Given the description of an element on the screen output the (x, y) to click on. 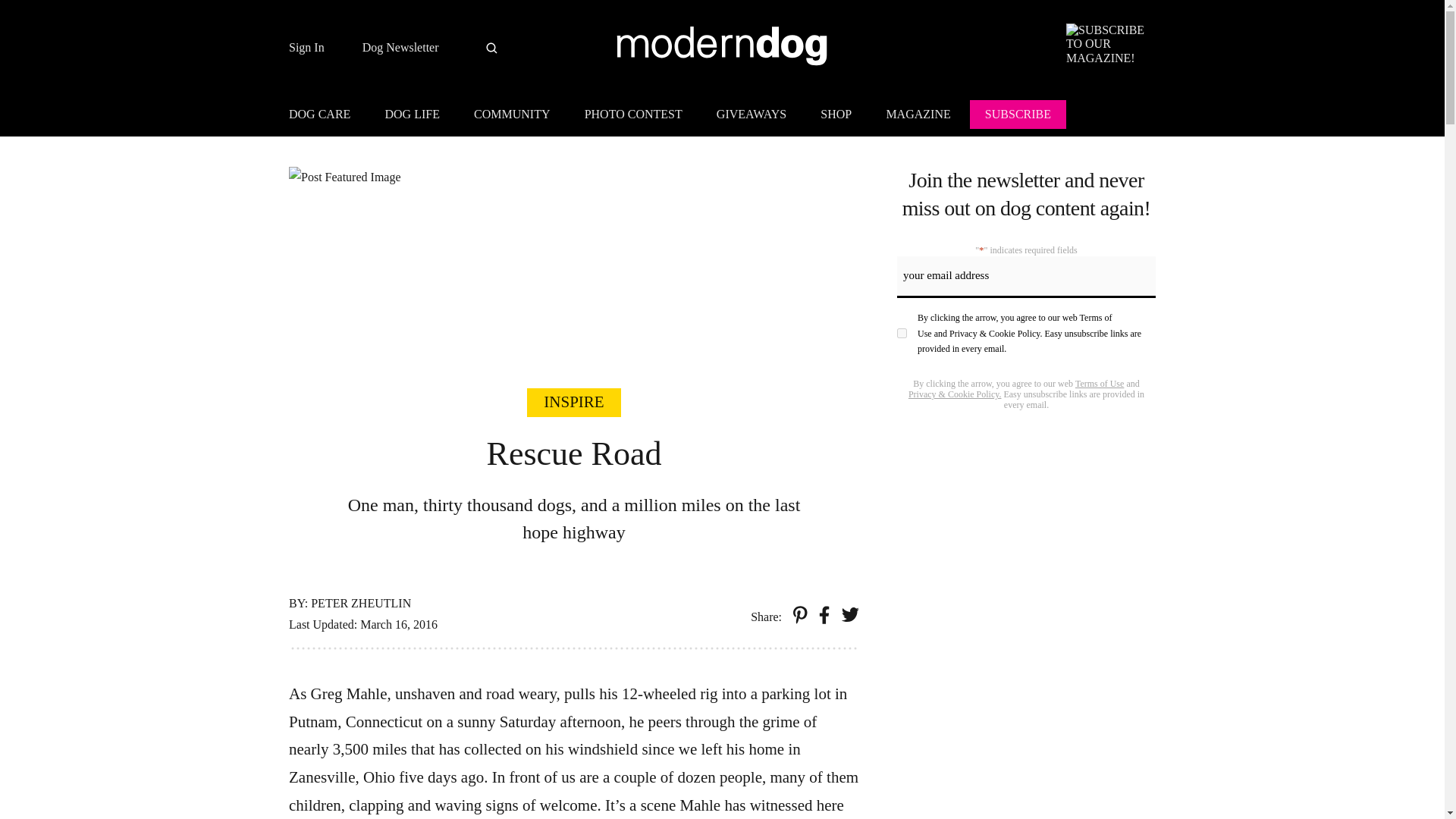
Dog Newsletter (400, 47)
Sign In (306, 47)
DOG CARE (326, 116)
DOG LIFE (411, 116)
